Given the description of an element on the screen output the (x, y) to click on. 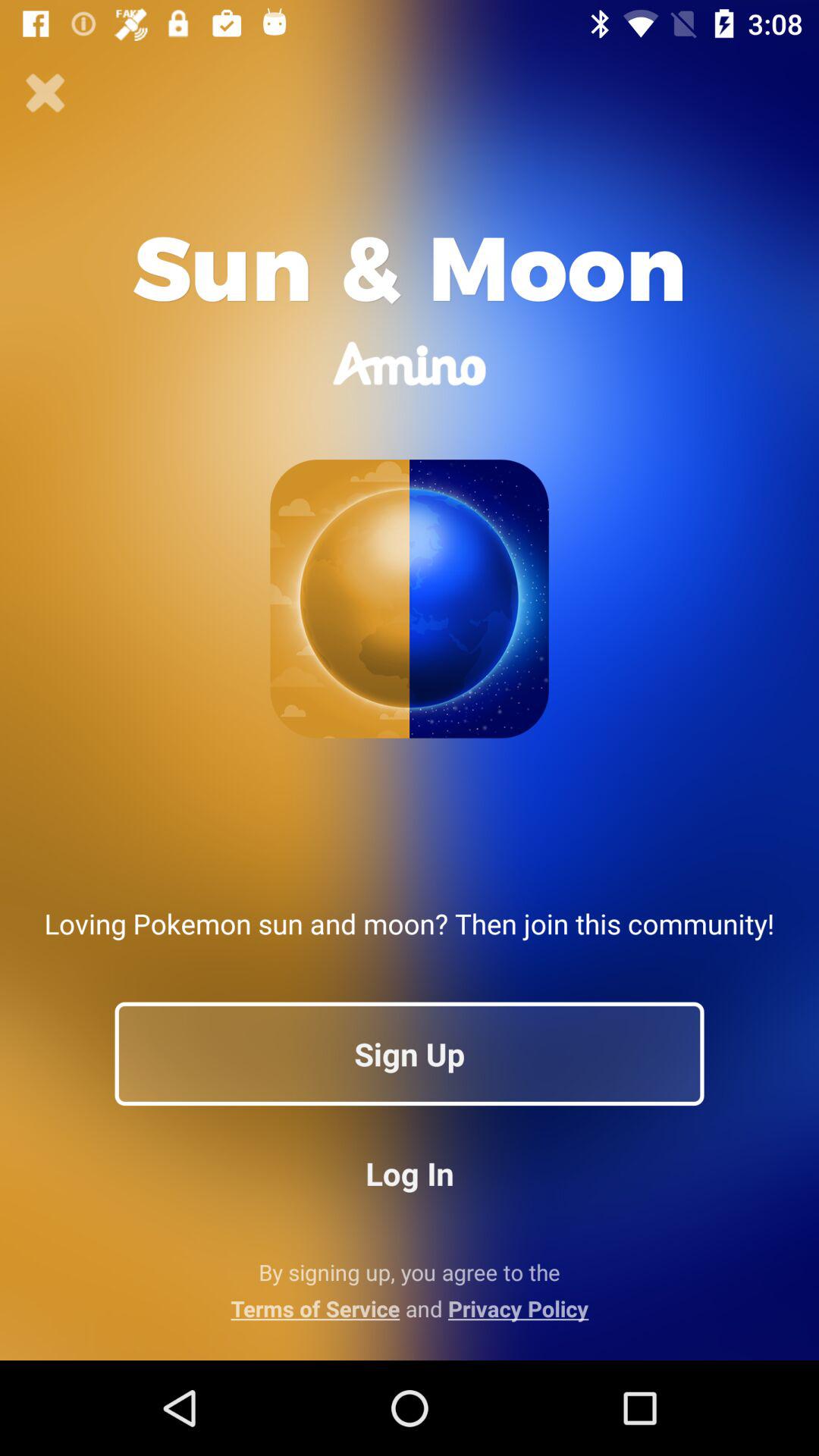
select the sign up icon (409, 1053)
